Given the description of an element on the screen output the (x, y) to click on. 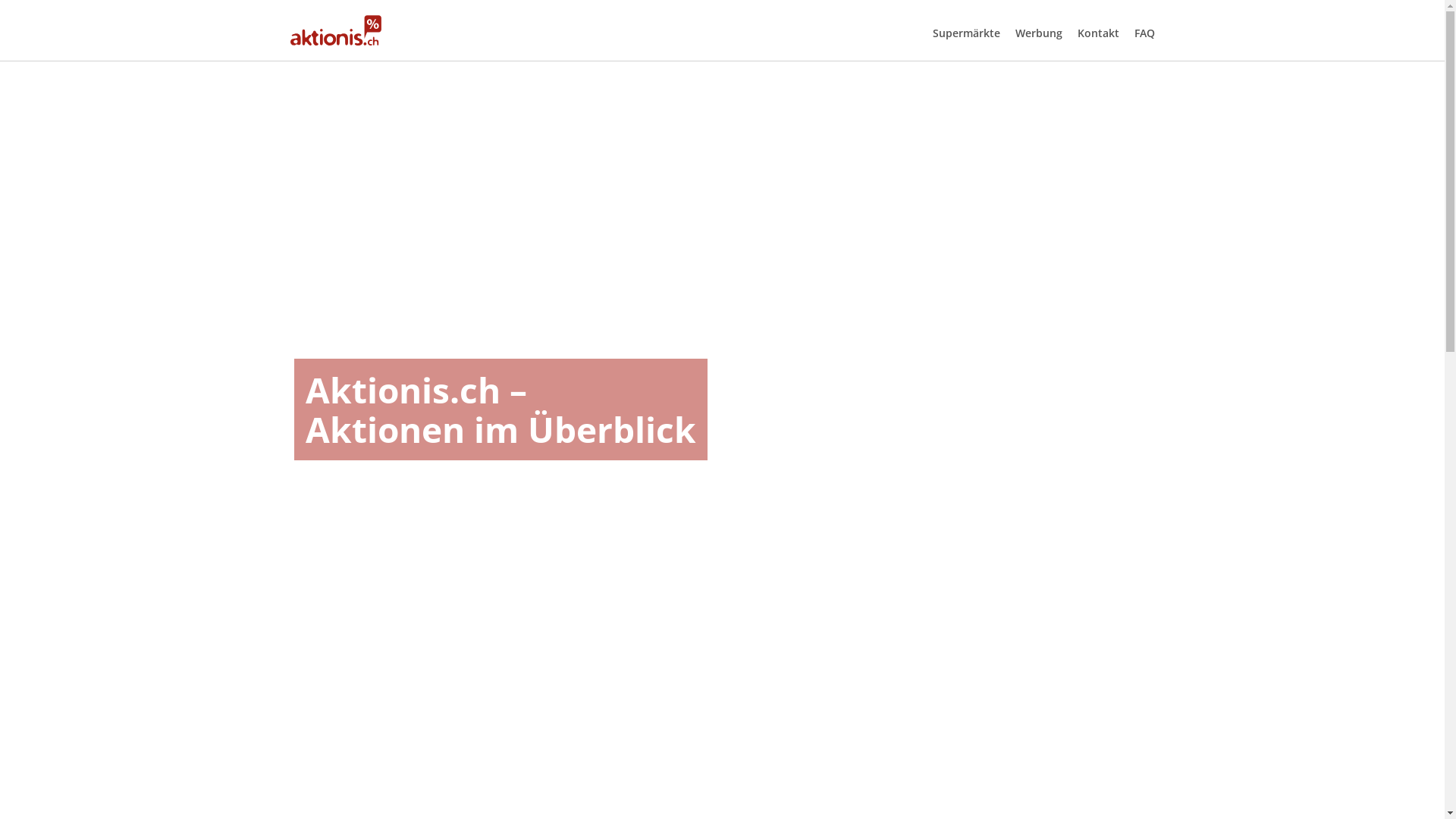
Werbung Element type: text (1037, 32)
FAQ Element type: text (1144, 32)
Zur Startseite Element type: hover (335, 30)
Kontakt Element type: text (1097, 32)
